Given the description of an element on the screen output the (x, y) to click on. 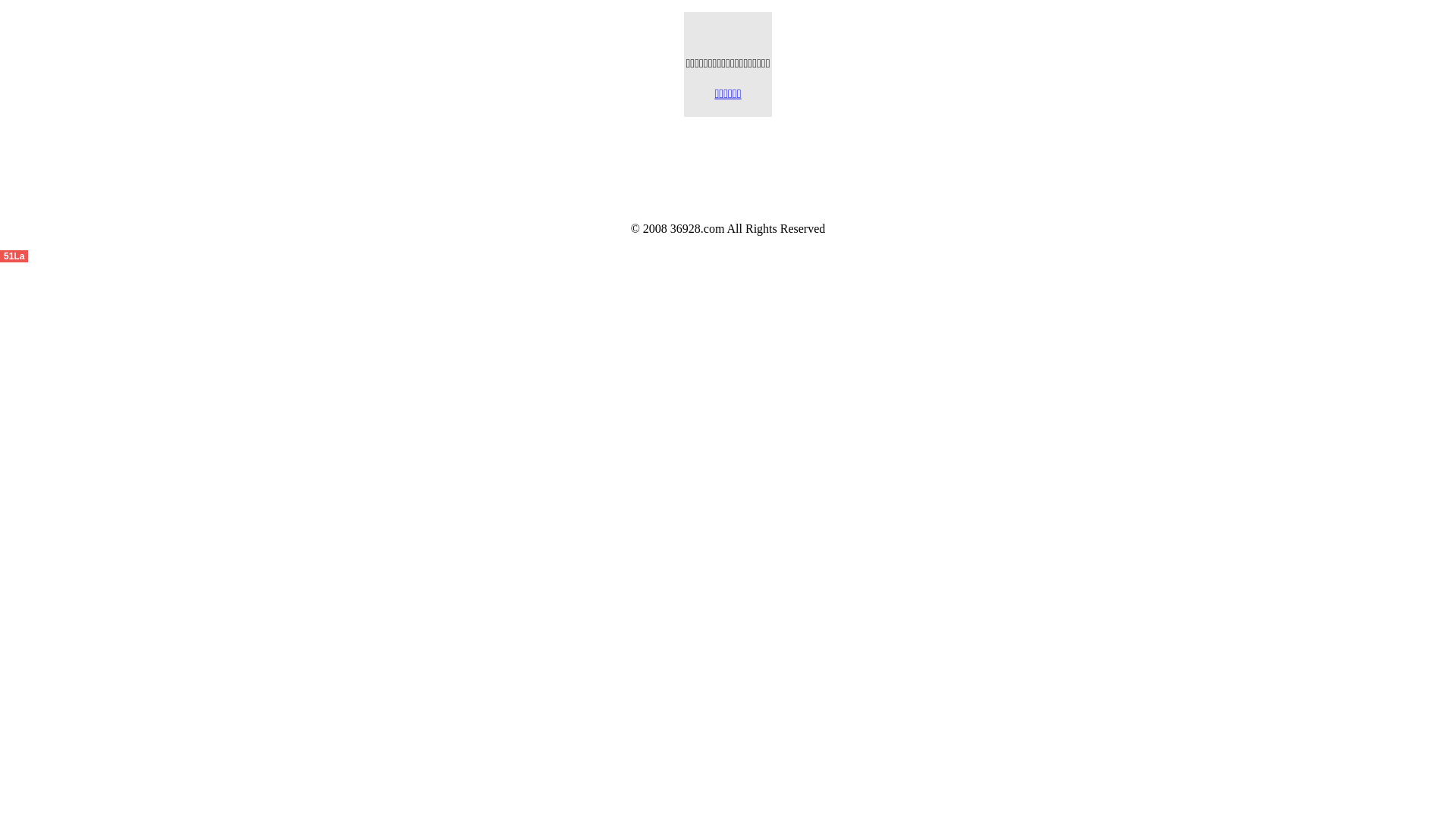
51La Element type: text (14, 254)
